Given the description of an element on the screen output the (x, y) to click on. 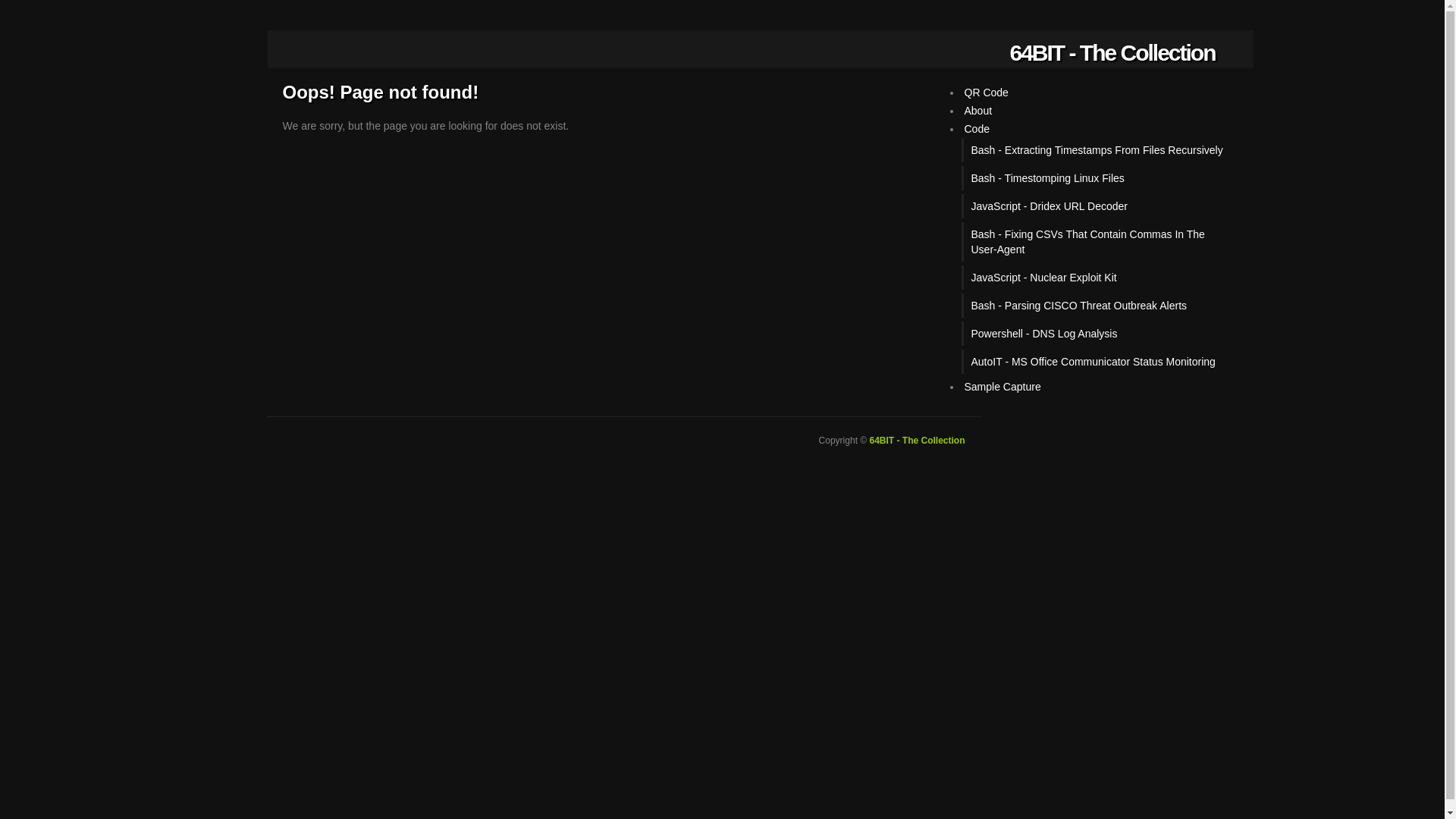
64BIT - The Collection Element type: text (1111, 52)
Powershell - DNS Log Analysis Element type: text (1098, 333)
AutoIT - MS Office Communicator Status Monitoring Element type: text (1098, 361)
Code Element type: text (976, 128)
JavaScript - Nuclear Exploit Kit Element type: text (1098, 277)
JavaScript - Dridex URL Decoder Element type: text (1098, 206)
Bash - Fixing CSVs That Contain Commas In The User-Agent Element type: text (1098, 241)
Bash - Parsing CISCO Threat Outbreak Alerts Element type: text (1098, 305)
64BIT - The Collection Element type: text (916, 440)
Sample Capture Element type: text (1002, 386)
Bash - Extracting Timestamps From Files Recursively Element type: text (1098, 150)
About Element type: text (978, 110)
Bash - Timestomping Linux Files Element type: text (1098, 178)
QR Code Element type: text (986, 92)
